Given the description of an element on the screen output the (x, y) to click on. 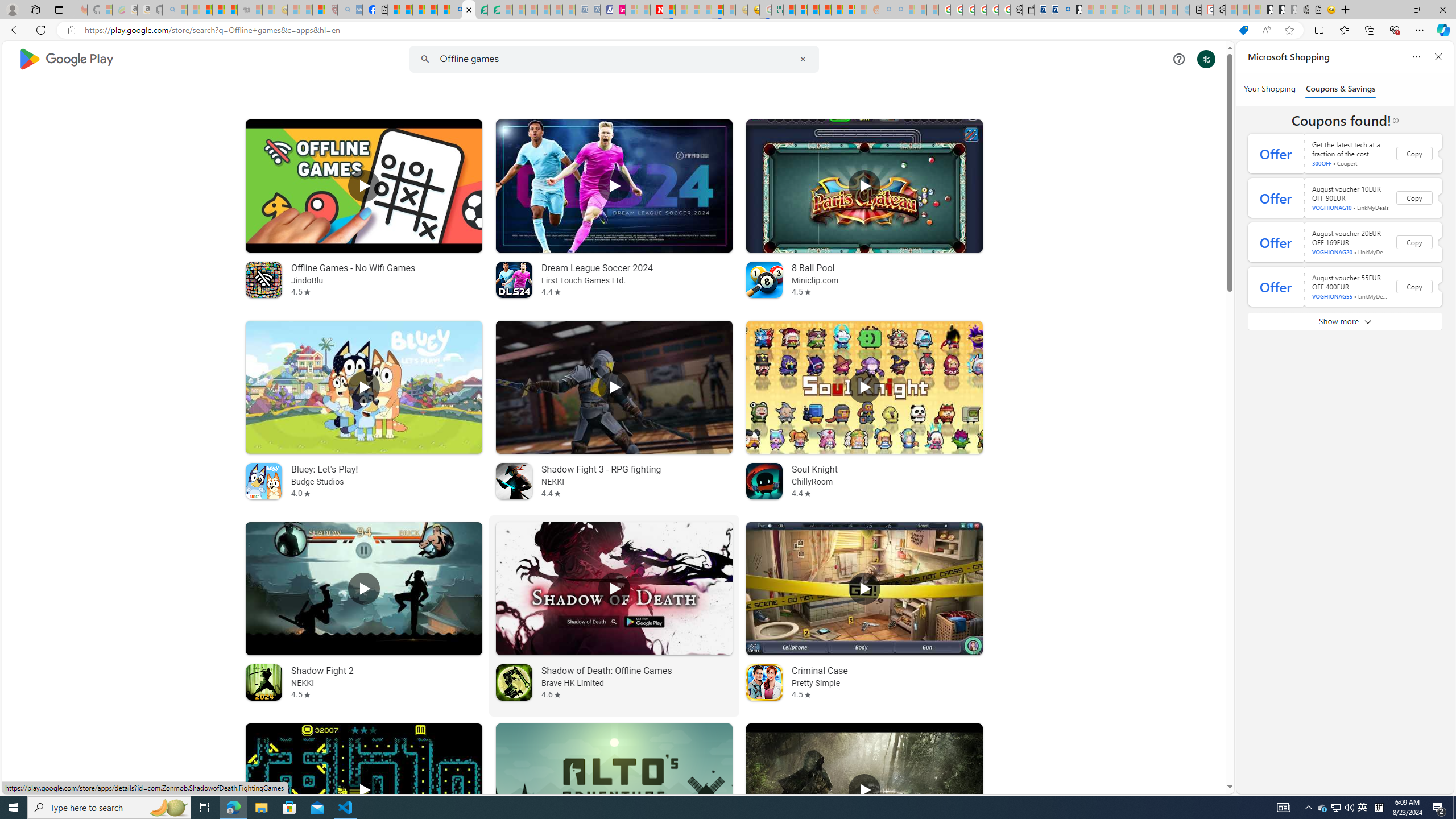
NCL Adult Asthma Inhaler Choice Guideline - Sleeping (355, 9)
Copilot (Ctrl+Shift+.) (1442, 29)
Play Cover Fire: Offline Shooting (864, 789)
New Report Confirms 2023 Was Record Hot | Watch (230, 9)
Nordace - Nordace Siena Is Not An Ordinary Backpack (1302, 9)
Favorites (1344, 29)
Microsoft Start (418, 9)
